Given the description of an element on the screen output the (x, y) to click on. 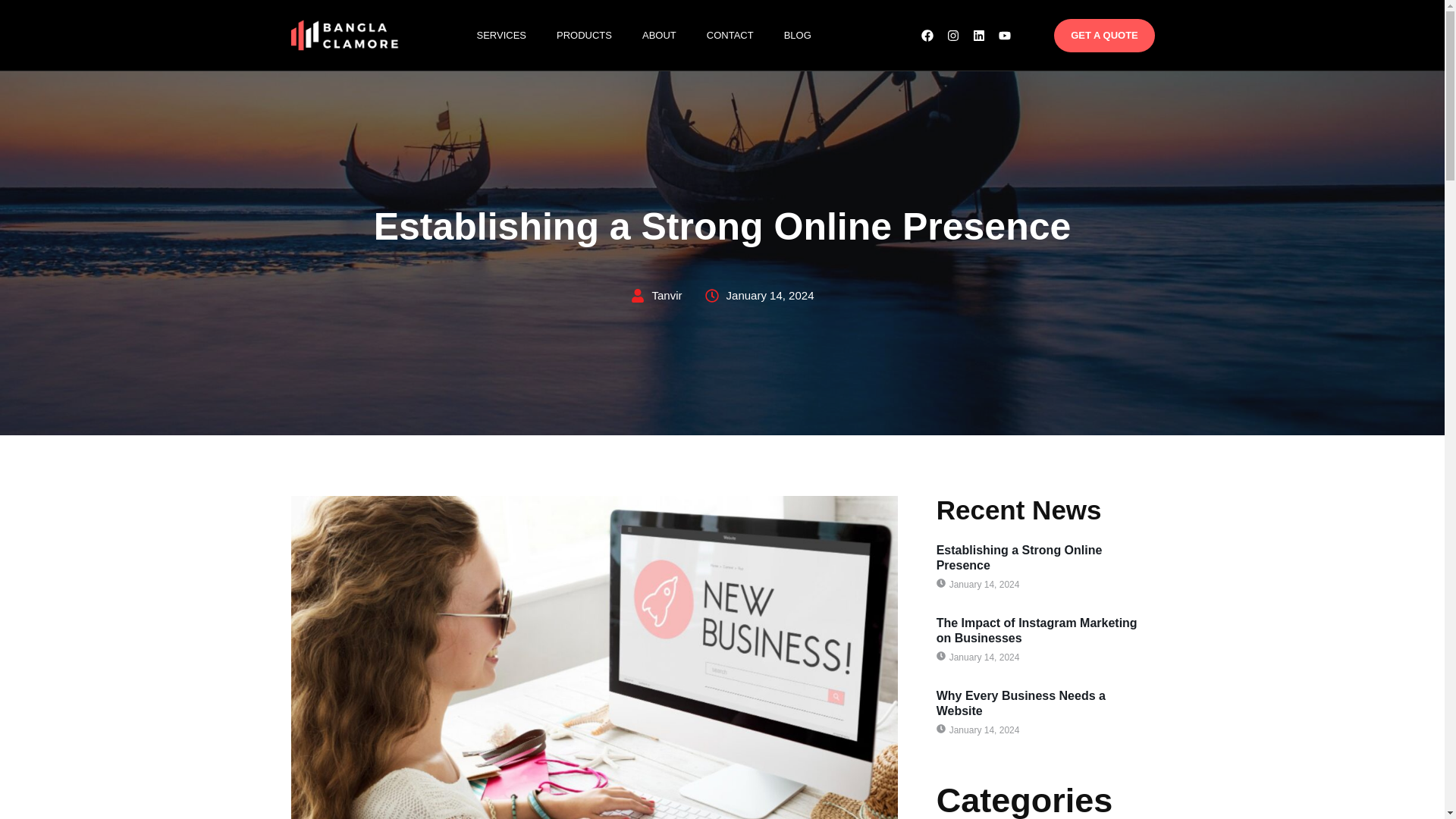
Establishing a Strong Online Presence (1019, 556)
ABOUT (674, 35)
SERVICES (516, 35)
Why Every Business Needs a Website (1020, 703)
GET A QUOTE (1108, 37)
The Impact of Instagram Marketing on Businesses (1036, 630)
CONTACT (745, 35)
BLOG (812, 35)
PRODUCTS (599, 35)
